Given the description of an element on the screen output the (x, y) to click on. 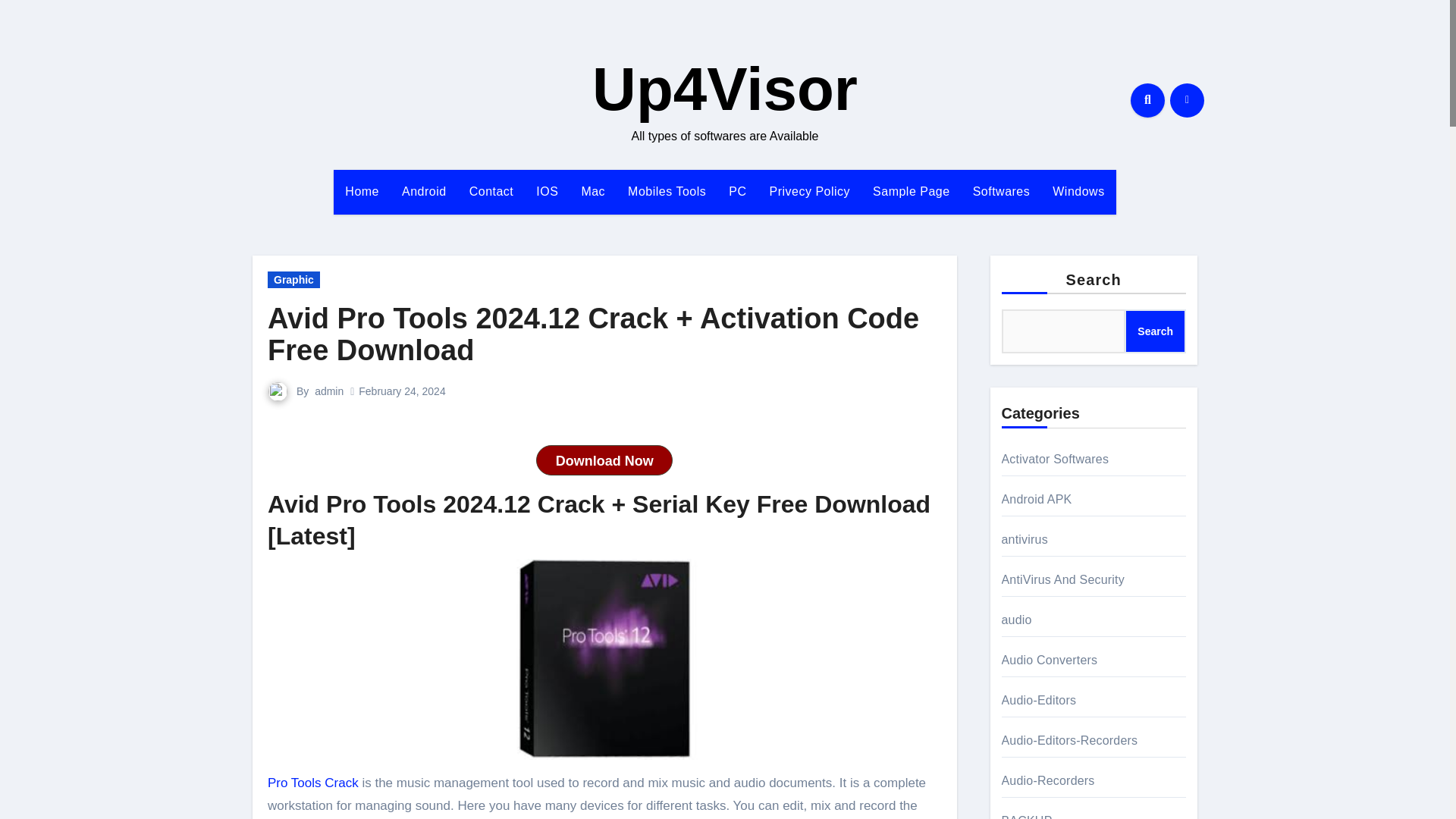
admin (328, 390)
Up4Visor (724, 88)
Android (424, 191)
Mobiles Tools (666, 191)
Graphic (293, 279)
February 24, 2024 (401, 390)
Home (361, 191)
Mac (592, 191)
Pro Tools Crack (312, 782)
PC (737, 191)
